Given the description of an element on the screen output the (x, y) to click on. 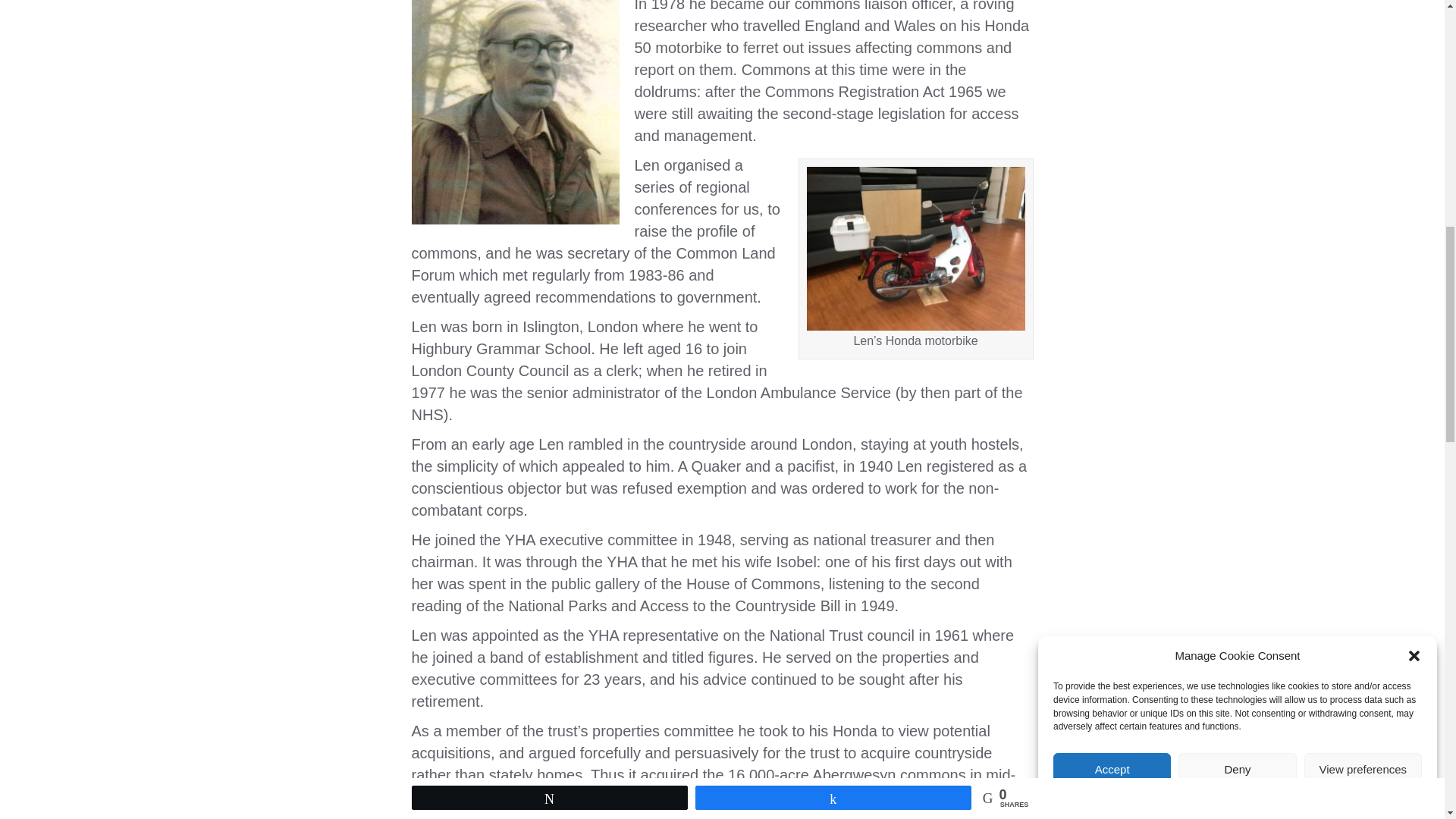
View preferences (1363, 136)
Cookie Policy (1196, 92)
Accept (1111, 177)
Deny (1236, 149)
Privacy Statement (1268, 84)
